Given the description of an element on the screen output the (x, y) to click on. 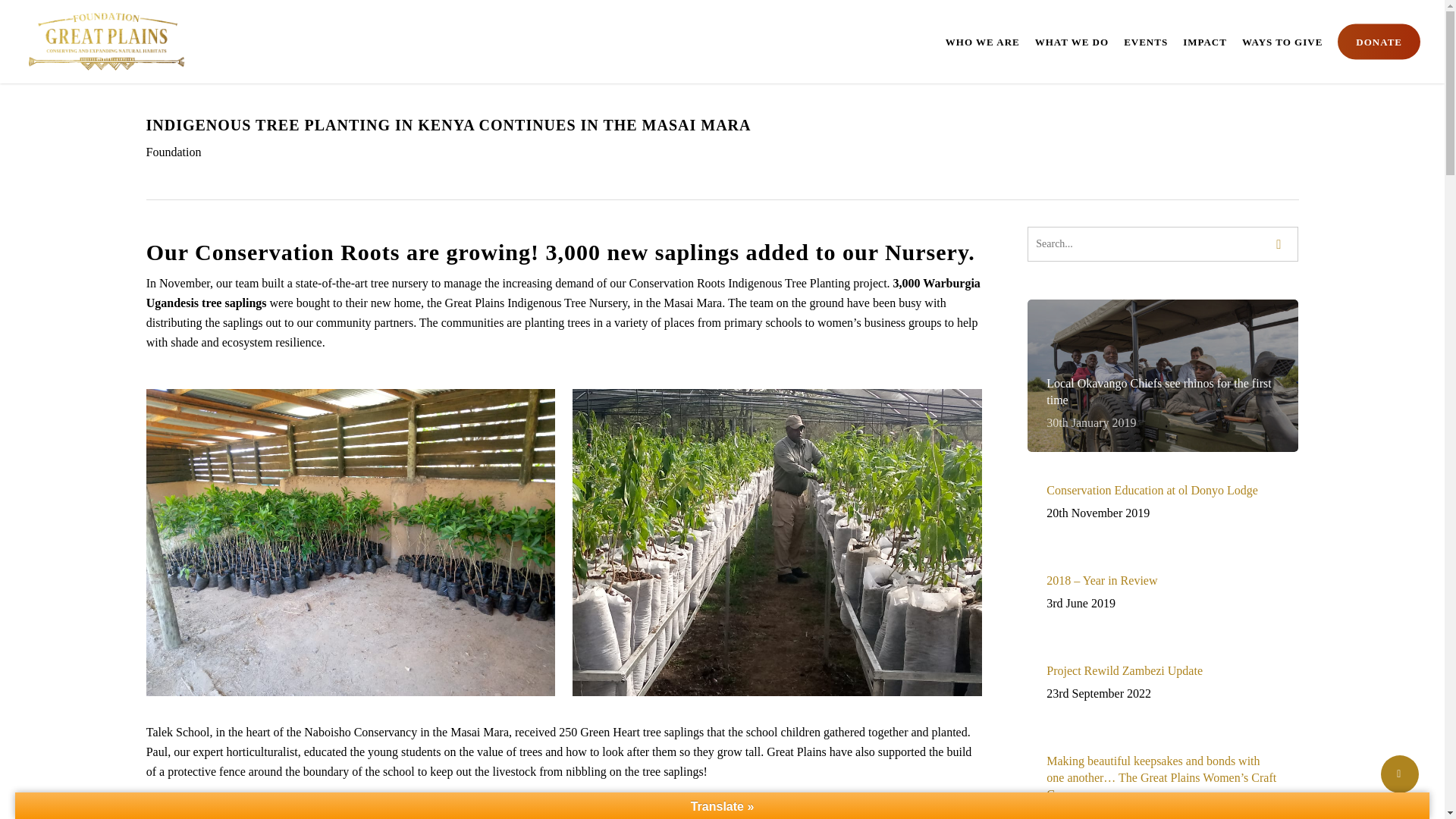
WHAT WE DO (1162, 502)
Foundation (1071, 41)
EVENTS (172, 151)
WHO WE ARE (1162, 682)
Search for: (1145, 41)
WAYS TO GIVE (982, 41)
DONATE (1162, 243)
IMPACT (1281, 41)
